Given the description of an element on the screen output the (x, y) to click on. 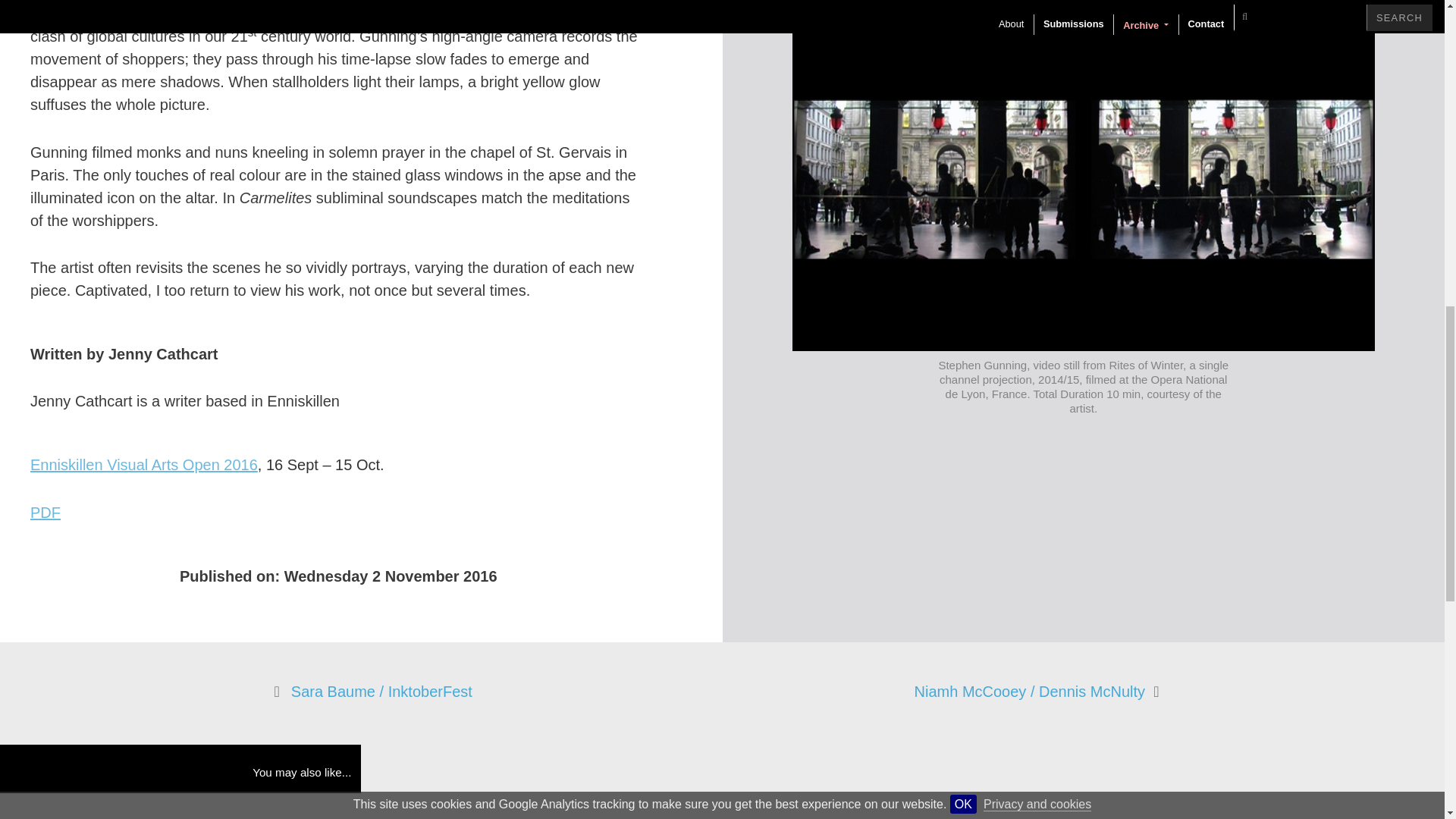
PDF (45, 512)
Enniskillen Visual Arts Open 2016 (143, 464)
